Given the description of an element on the screen output the (x, y) to click on. 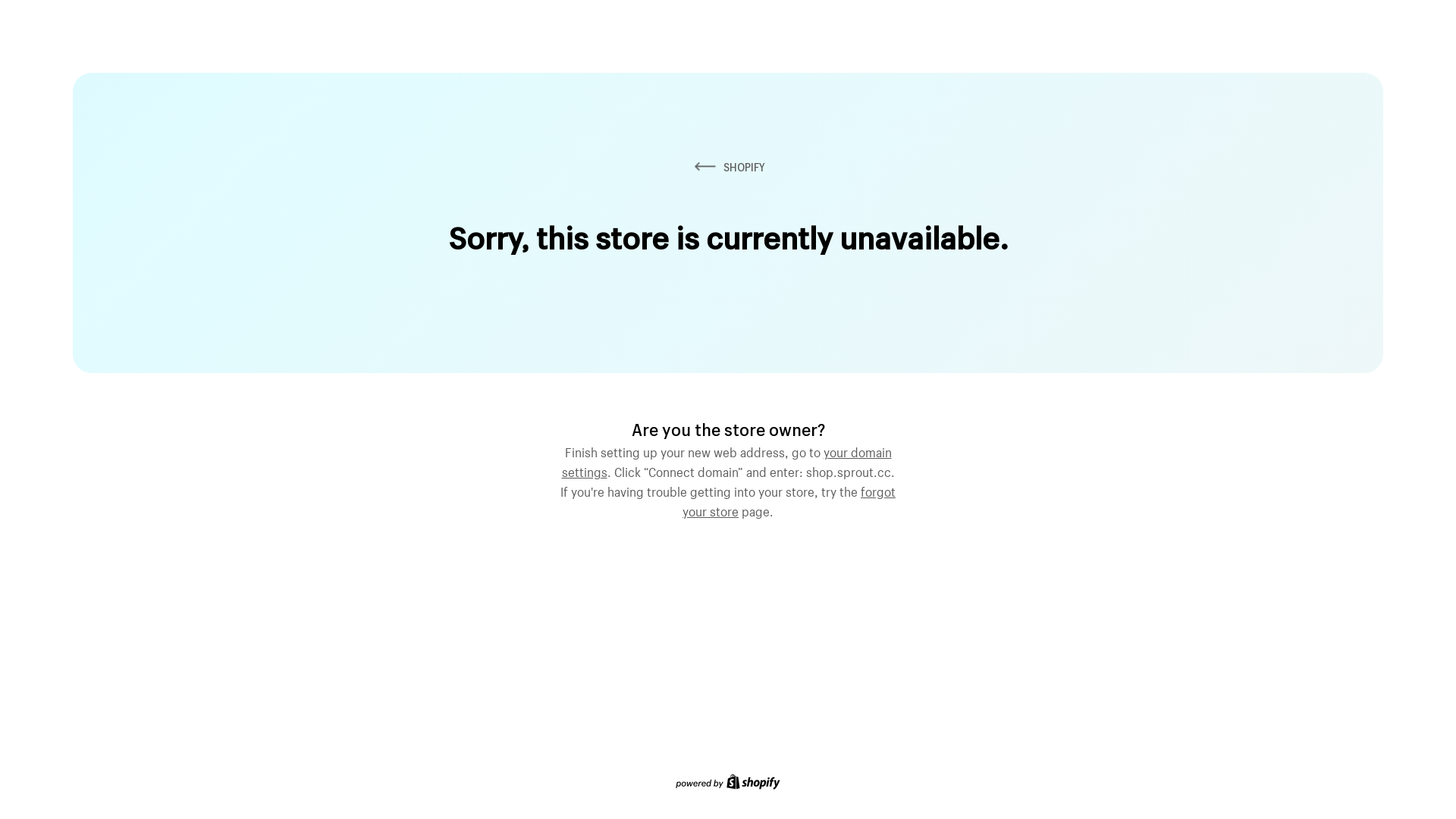
your domain settings Element type: text (726, 460)
SHOPIFY Element type: text (727, 167)
forgot your store Element type: text (788, 499)
